Given the description of an element on the screen output the (x, y) to click on. 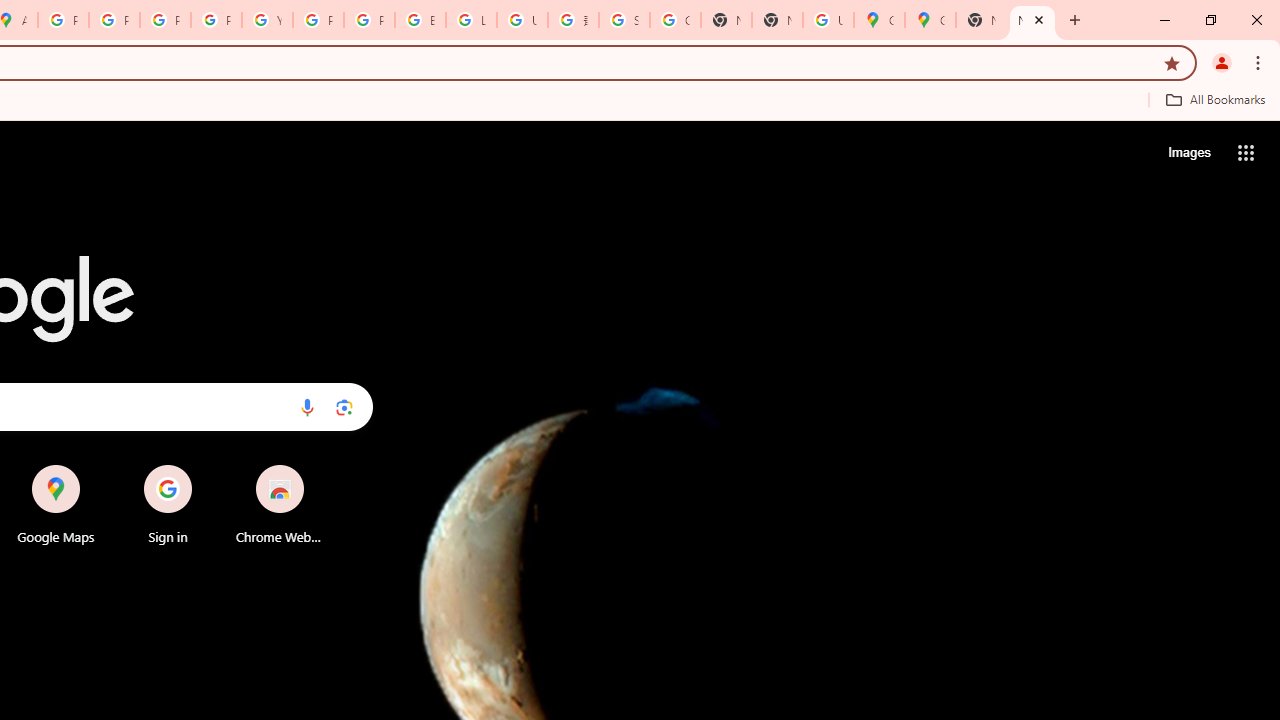
Google Maps (56, 504)
Google Maps (878, 20)
Search by image (344, 407)
